Given the description of an element on the screen output the (x, y) to click on. 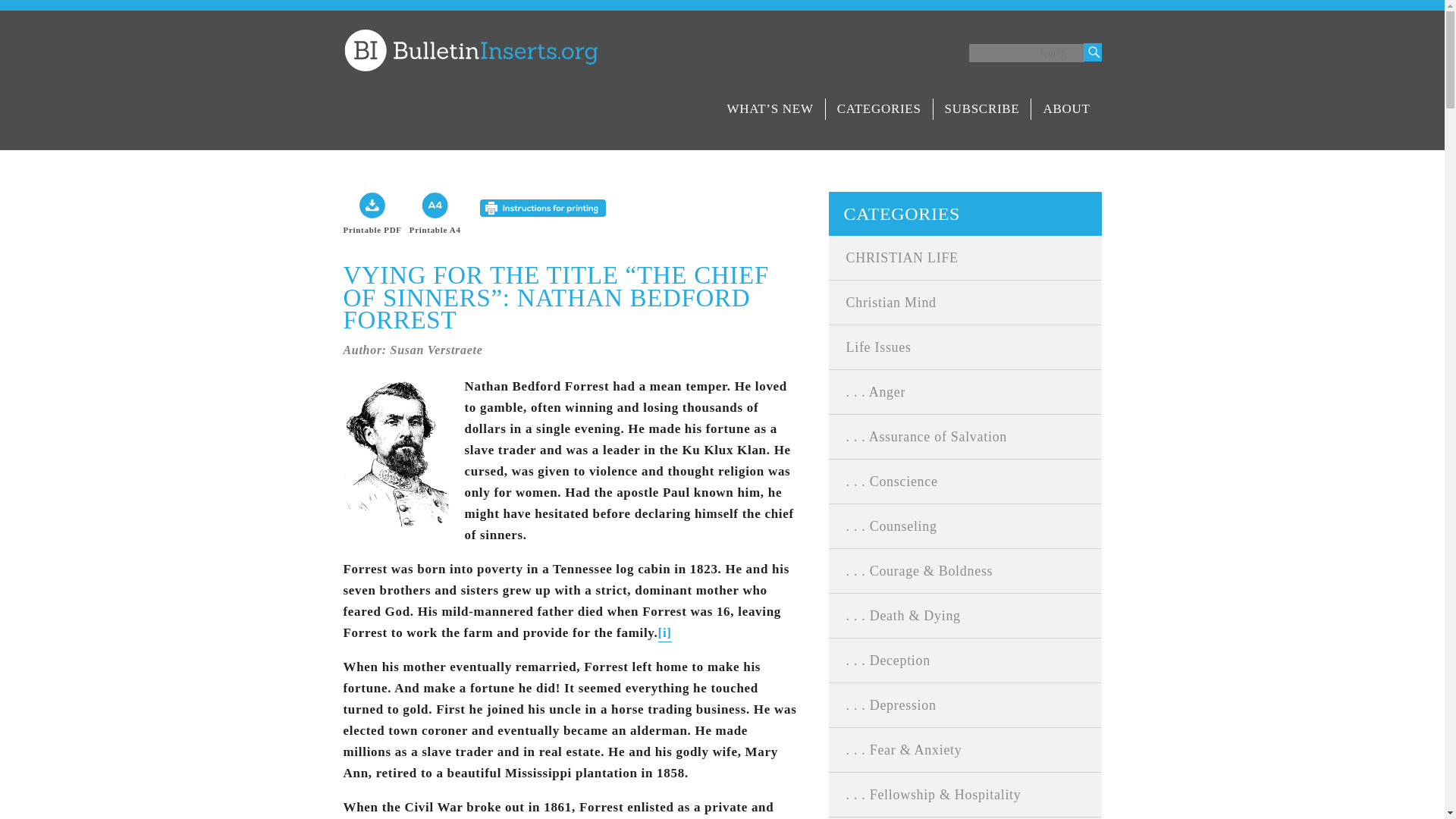
. . . Depression (964, 705)
. . . Anger (964, 392)
CATEGORIES (879, 108)
. . . Conscience (964, 481)
Search (1091, 52)
Church Bulletin Inserts (469, 50)
SUBSCRIBE (981, 108)
Printable PDF (371, 216)
. . . Deception (964, 660)
CHRISTIAN LIFE (964, 257)
. . . Counseling (964, 525)
Life Issues (964, 347)
Christian Mind (964, 302)
. . . Assurance of Salvation (964, 436)
Search for: (1026, 53)
